Given the description of an element on the screen output the (x, y) to click on. 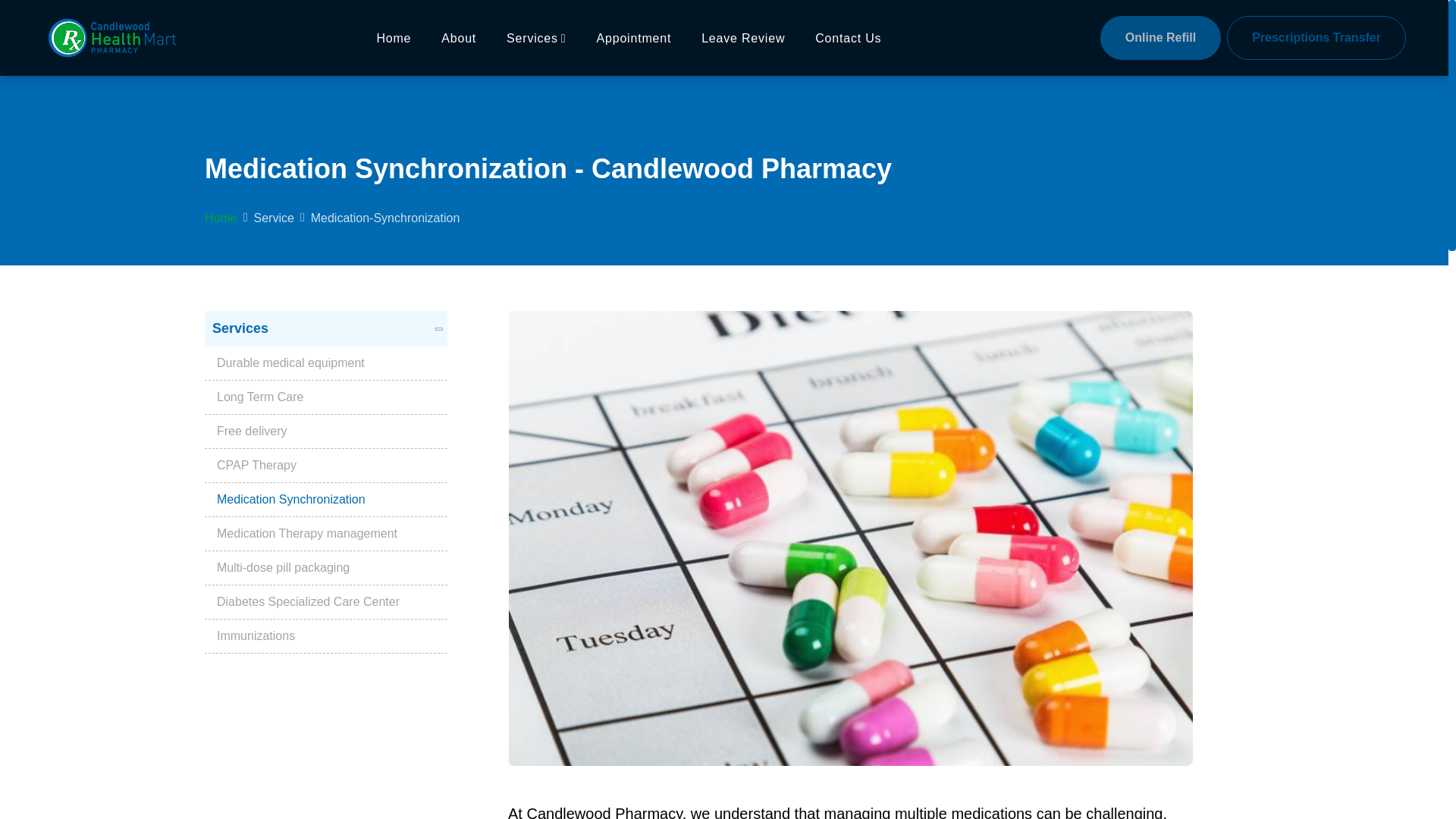
Medication Synchronization (325, 499)
Home (392, 37)
About (458, 37)
Multi-dose pill packaging (325, 568)
Home (221, 218)
Durable medical equipment (325, 363)
Services (536, 37)
Online Refill (1160, 37)
Medication Therapy management (325, 533)
Long Term Care (325, 397)
